Given the description of an element on the screen output the (x, y) to click on. 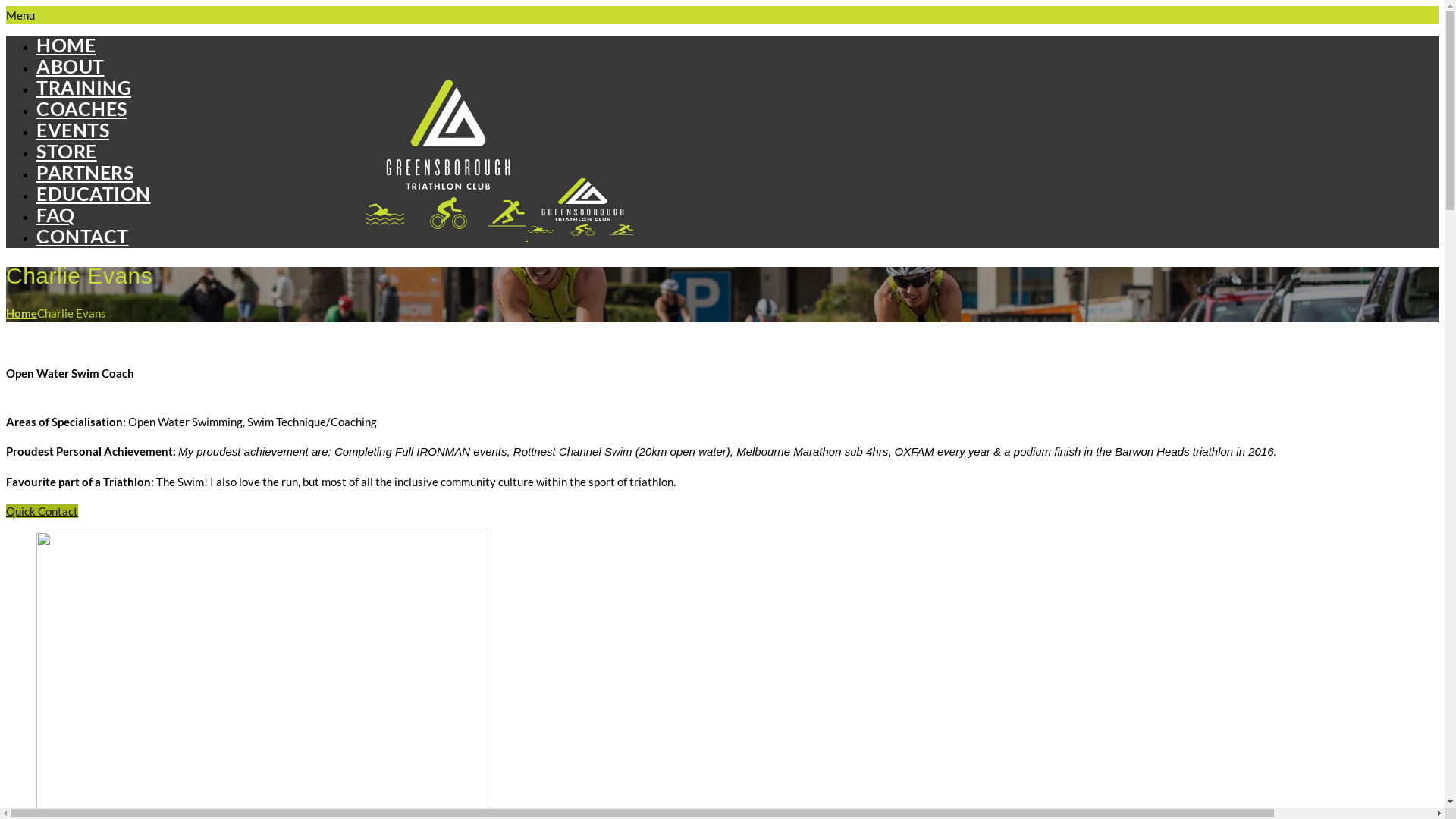
EDUCATION Element type: text (93, 193)
CONTACT Element type: text (82, 235)
STORE Element type: text (66, 150)
PARTNERS Element type: text (84, 171)
HOME Element type: text (65, 44)
GTC Element type: hover (445, 154)
COACHES Element type: text (81, 108)
GTC Element type: hover (580, 206)
Quick Contact Element type: text (42, 510)
FAQ Element type: text (55, 214)
EVENTS Element type: text (72, 129)
ABOUT Element type: text (70, 65)
TRAINING Element type: text (83, 86)
GTC Element type: hover (499, 94)
Home Element type: text (21, 313)
